Given the description of an element on the screen output the (x, y) to click on. 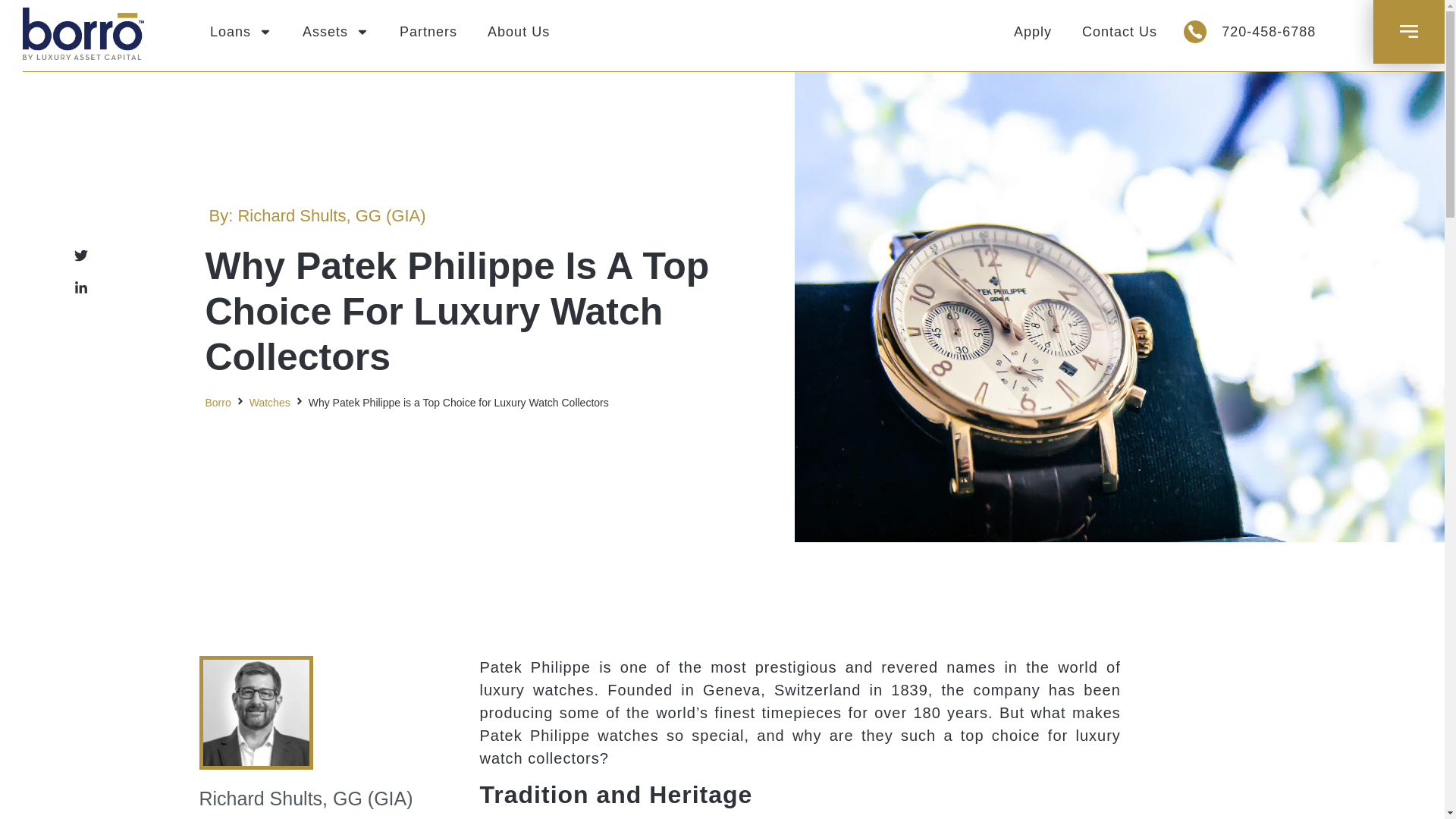
Watches (268, 402)
Contact Us (1119, 31)
Apply (1032, 31)
Loans (240, 31)
Partners (427, 31)
Assets (335, 31)
About Us (517, 31)
Menu (1408, 31)
720-458-6788 (1268, 31)
Borro (217, 402)
